Given the description of an element on the screen output the (x, y) to click on. 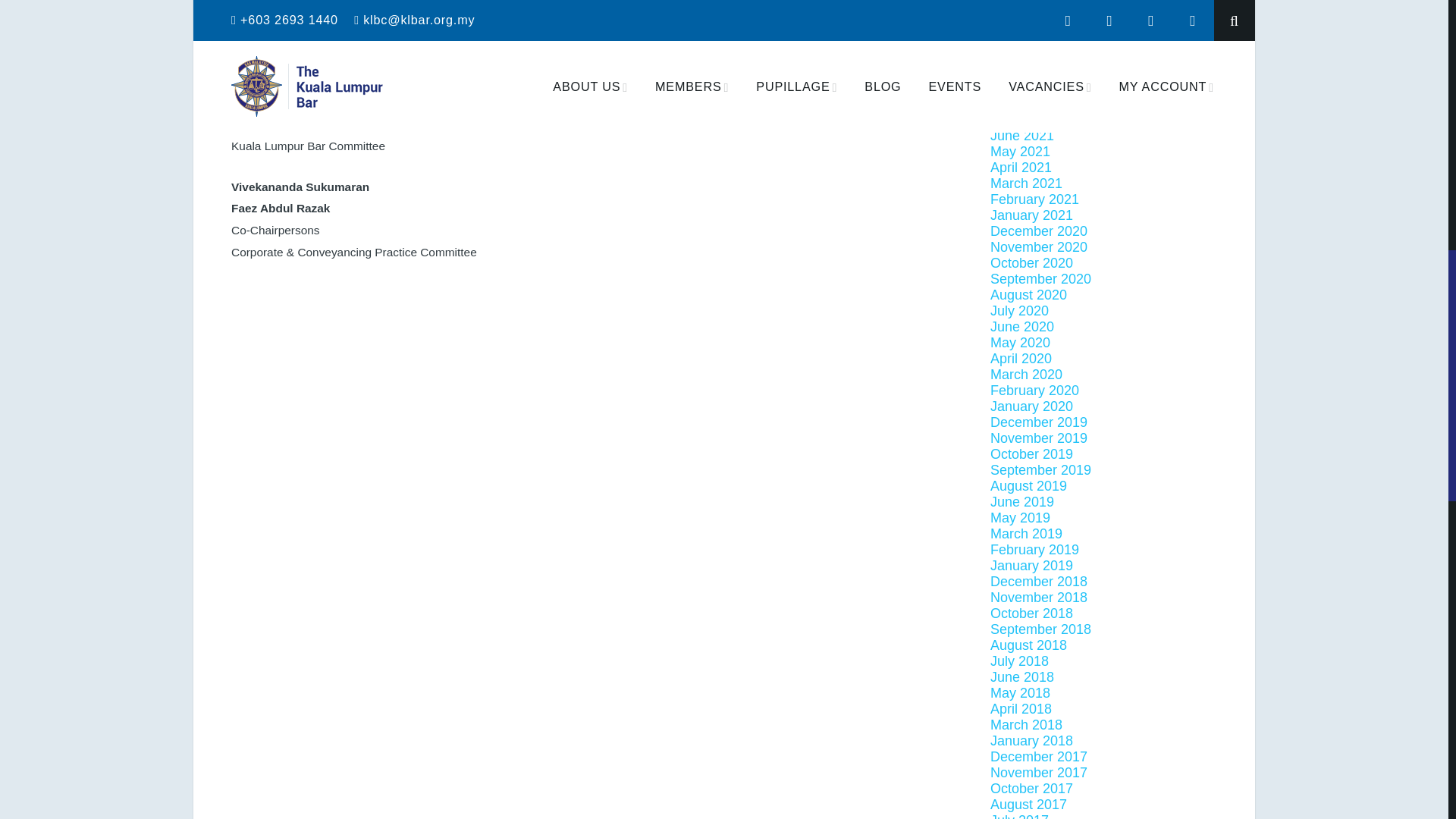
here (552, 61)
here (487, 61)
